Given the description of an element on the screen output the (x, y) to click on. 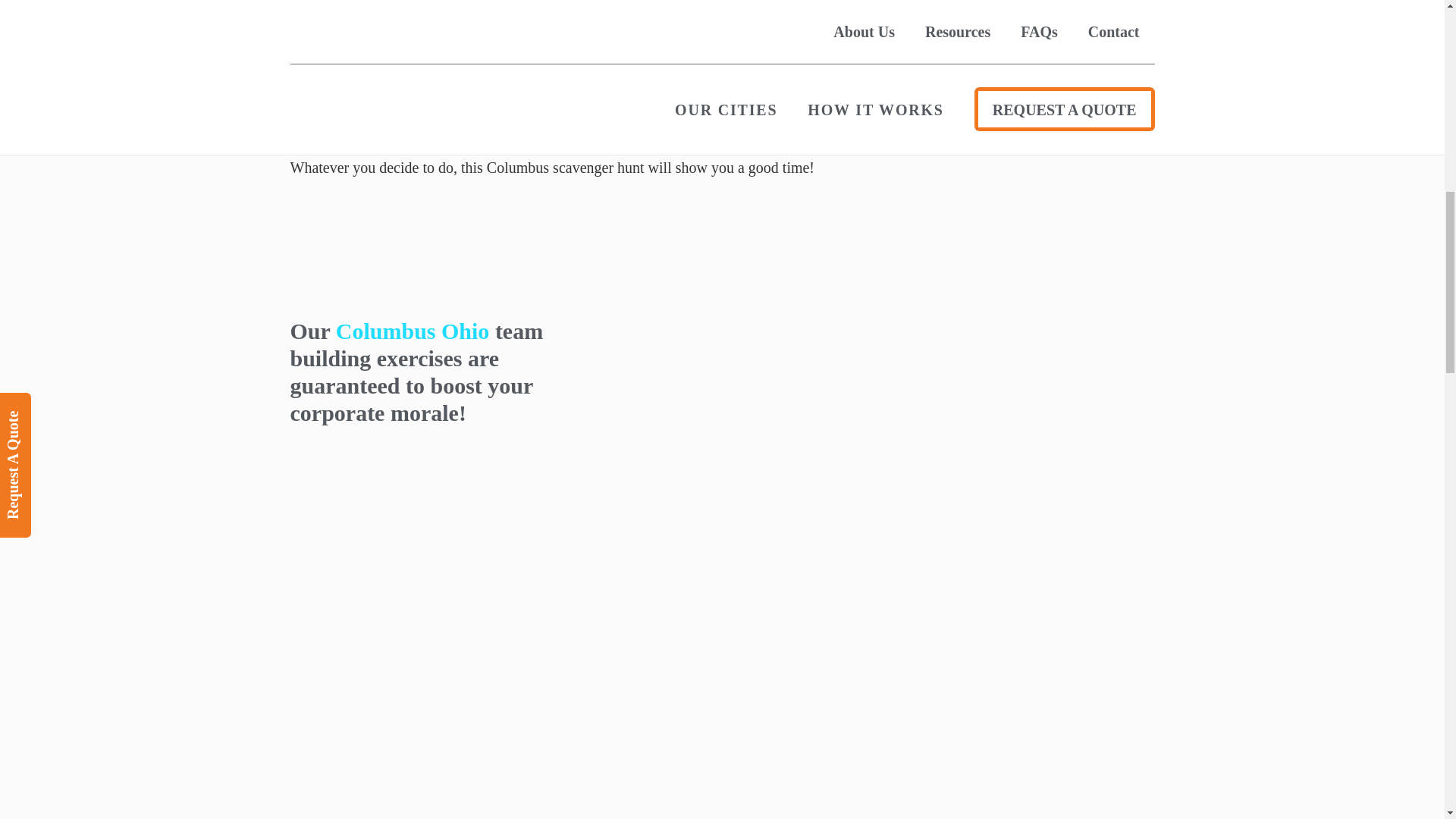
Back to top (1413, 26)
